Given the description of an element on the screen output the (x, y) to click on. 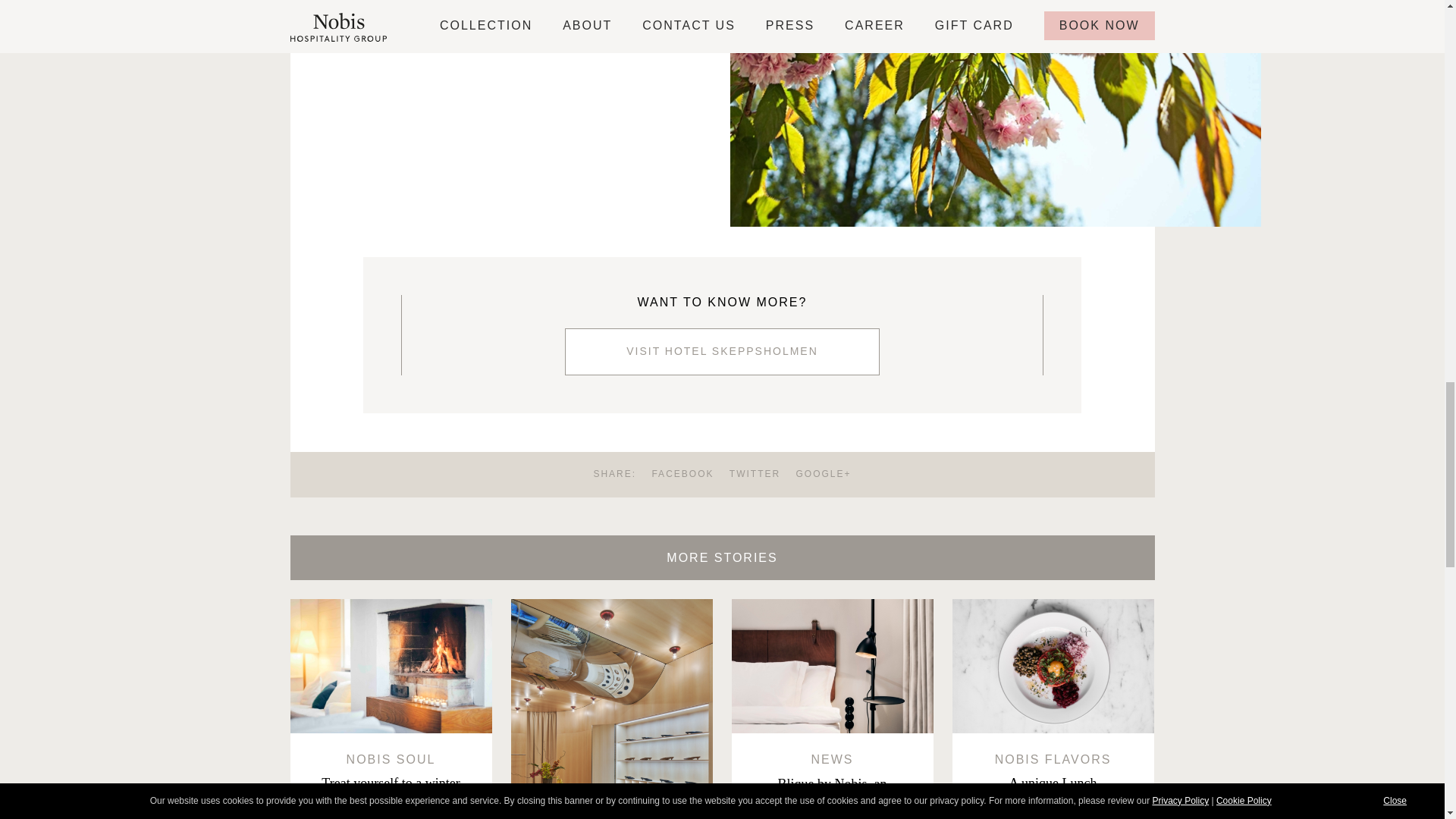
VISIT HOTEL SKEPPSHOLMEN (721, 351)
FACEBOOK (676, 473)
TWITTER (748, 473)
